Given the description of an element on the screen output the (x, y) to click on. 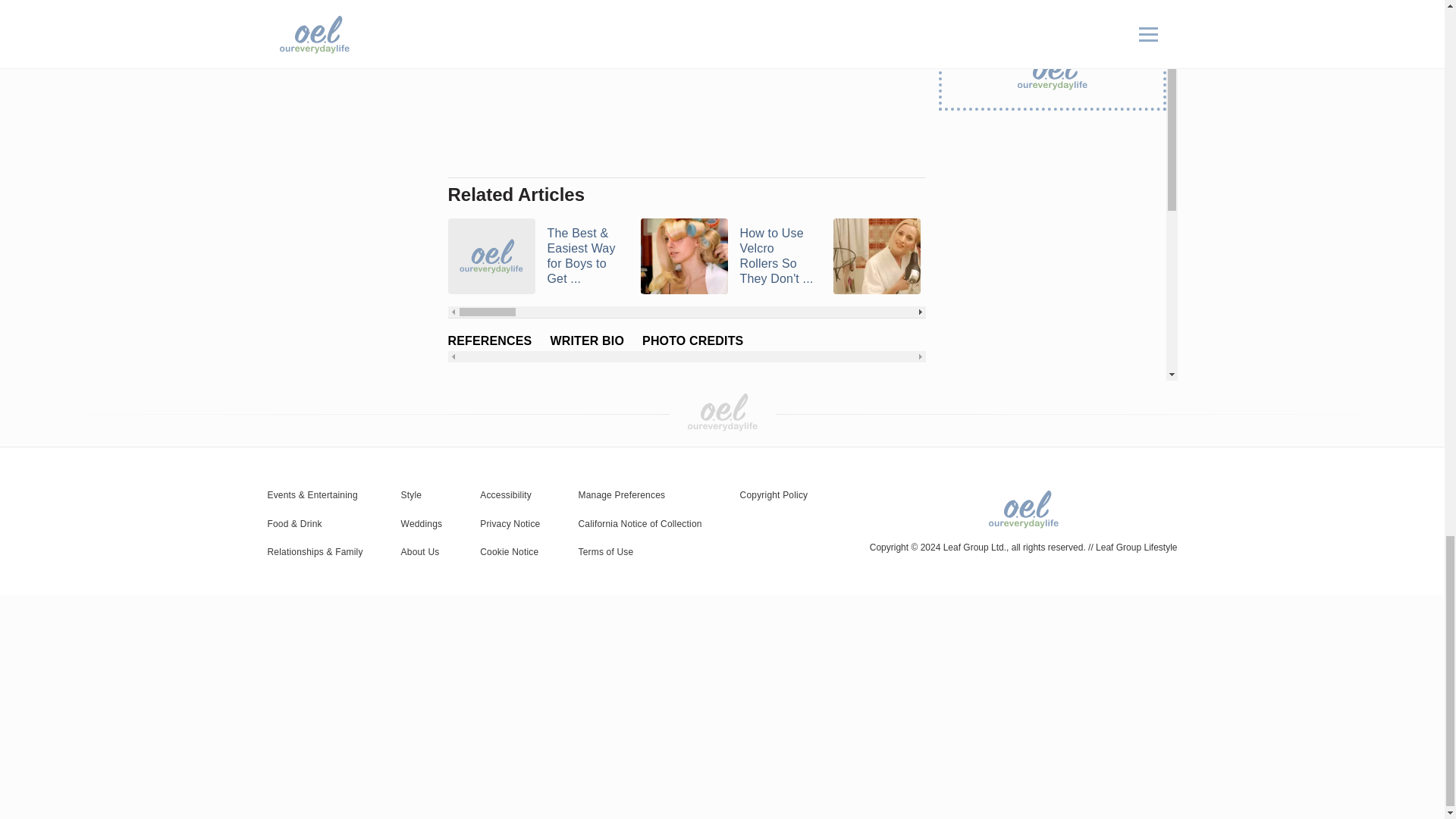
How to Use a Curling Brush (1112, 256)
Old-Fashioned Ways to Curl Long Hair (1304, 256)
How to Use Velcro Rollers So They Don't ... (726, 256)
How to Blow-Dry Hair Straight With a ... (919, 256)
Advertisement (685, 84)
